Given the description of an element on the screen output the (x, y) to click on. 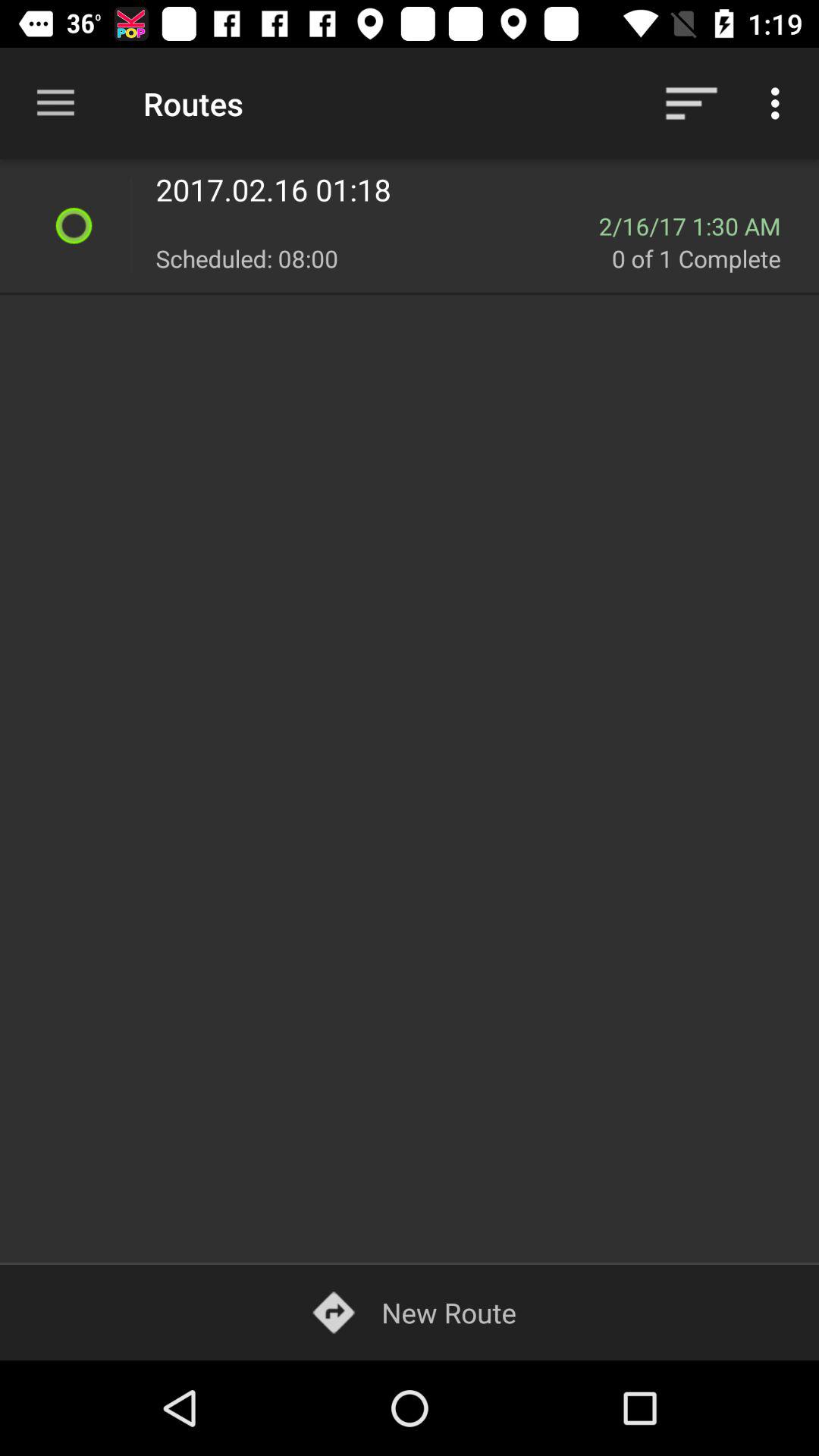
turn off the item next to the 2 16 17 icon (376, 225)
